Given the description of an element on the screen output the (x, y) to click on. 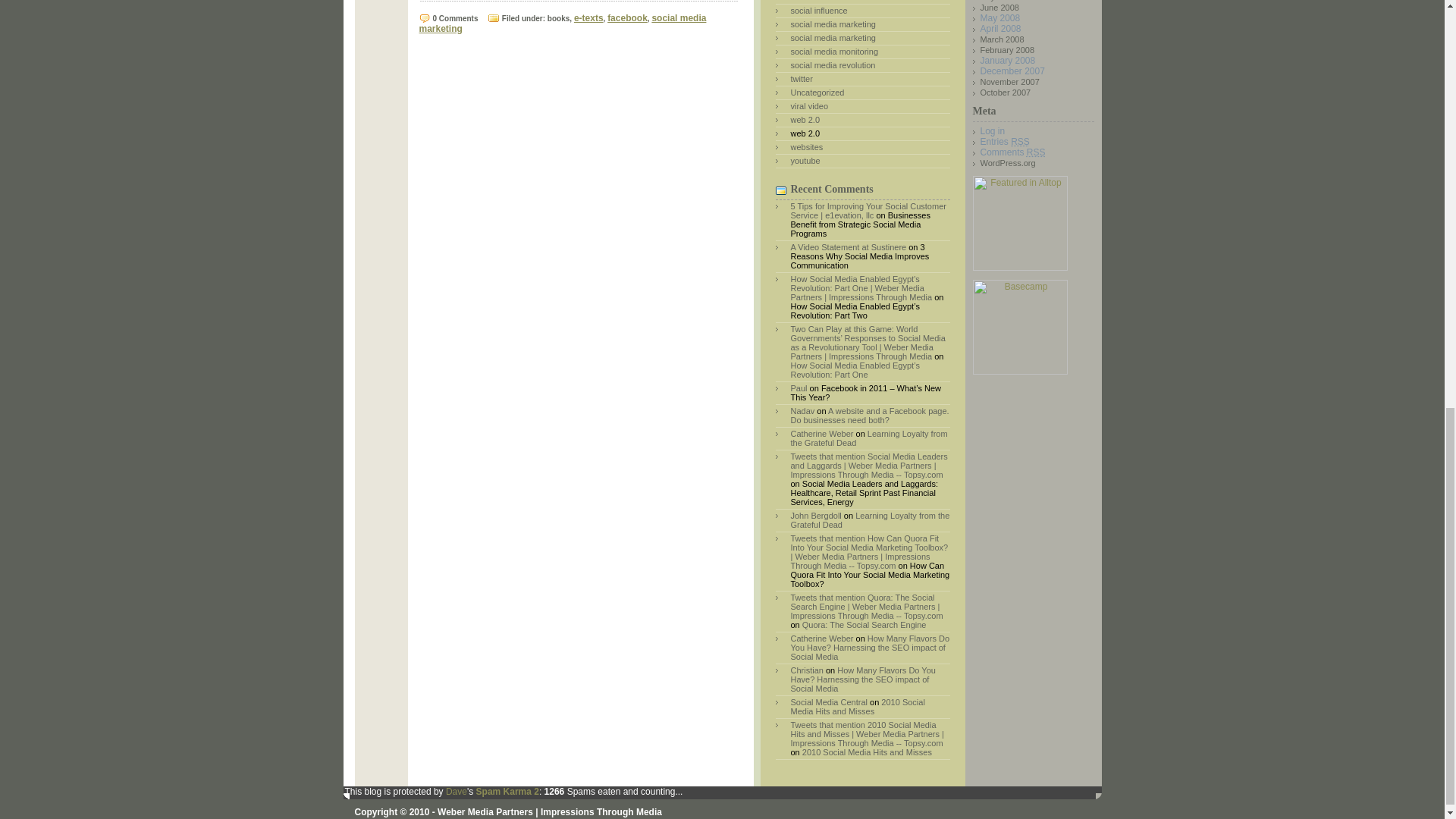
websites (806, 146)
Paul (798, 388)
social media marketing (833, 37)
Learning Loyalty from the Grateful Dead (868, 438)
A Video Statement at Sustinere (847, 246)
social influence (818, 10)
View all posts in e-texts (588, 18)
social media marketing (833, 23)
e-texts (588, 18)
youtube (804, 160)
